Given the description of an element on the screen output the (x, y) to click on. 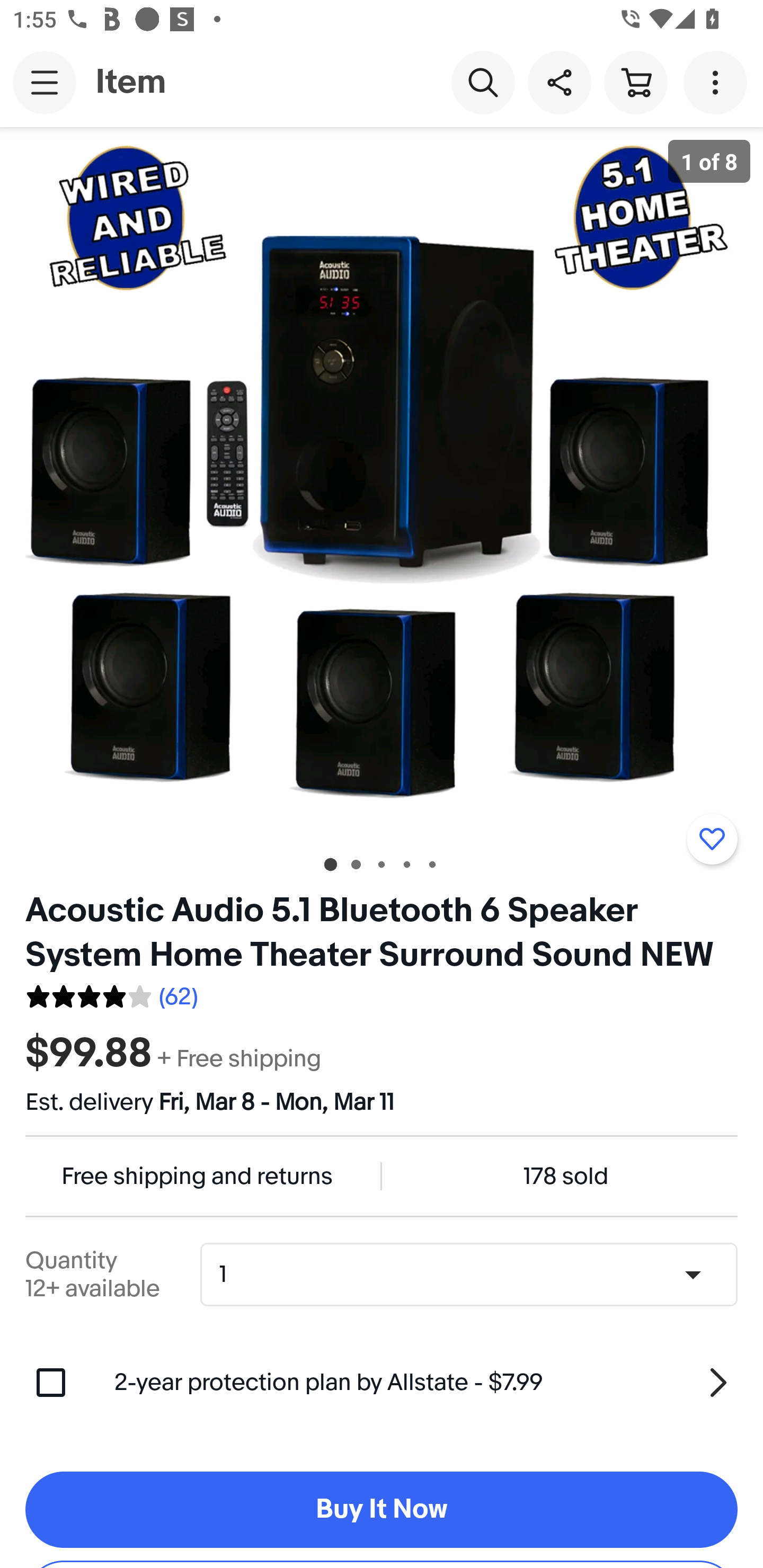
Main navigation, open (44, 82)
Search (482, 81)
Share this item (559, 81)
Cart button shopping cart (635, 81)
More options (718, 81)
Item image 1 of 8 (381, 482)
Add to watchlist (711, 838)
Quantity,1,12+ available 1 (474, 1274)
2-year protection plan by Allstate - $7.99 (425, 1382)
Buy It Now (381, 1509)
